Given the description of an element on the screen output the (x, y) to click on. 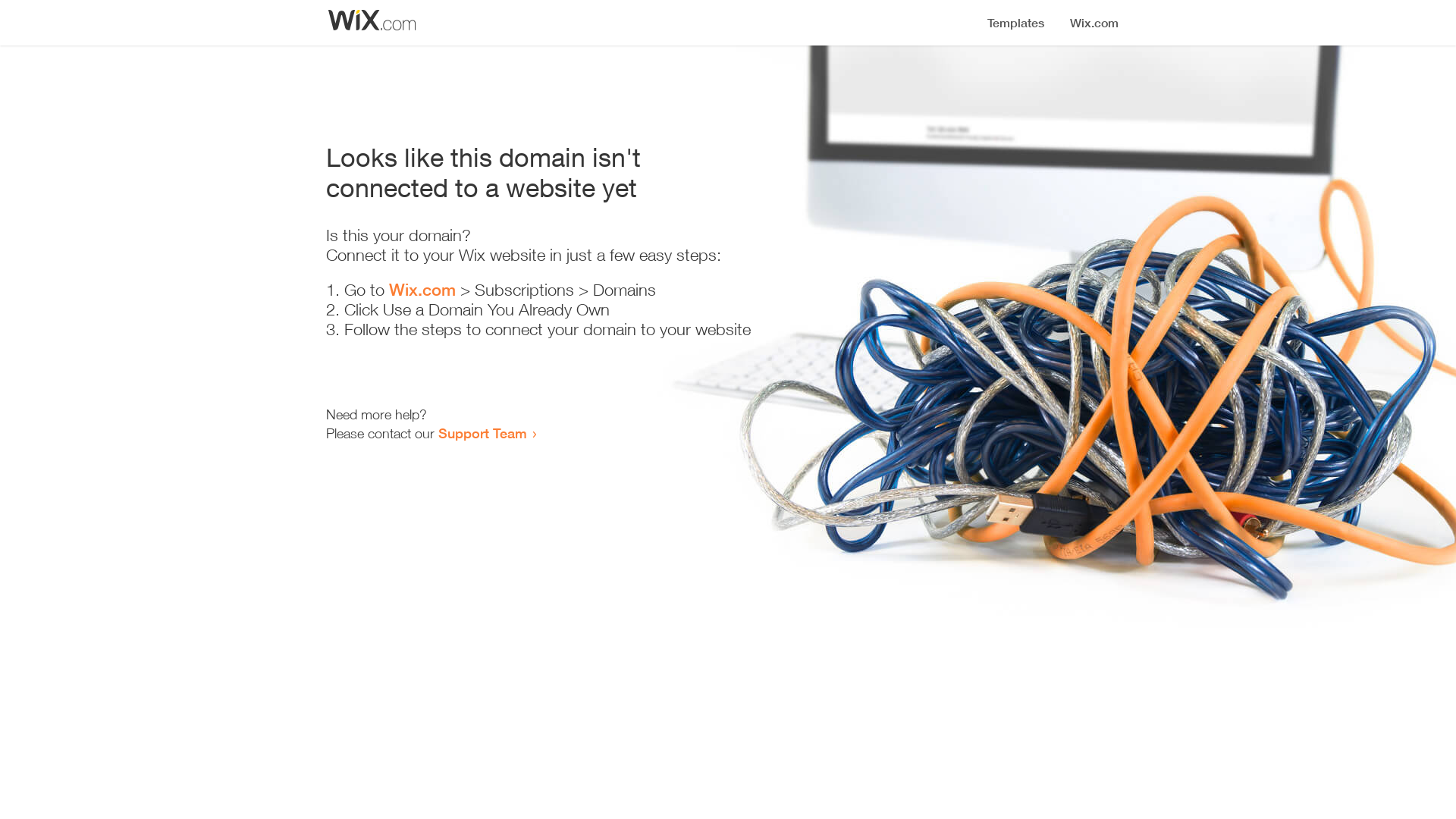
Wix.com Element type: text (422, 289)
Support Team Element type: text (482, 432)
